Given the description of an element on the screen output the (x, y) to click on. 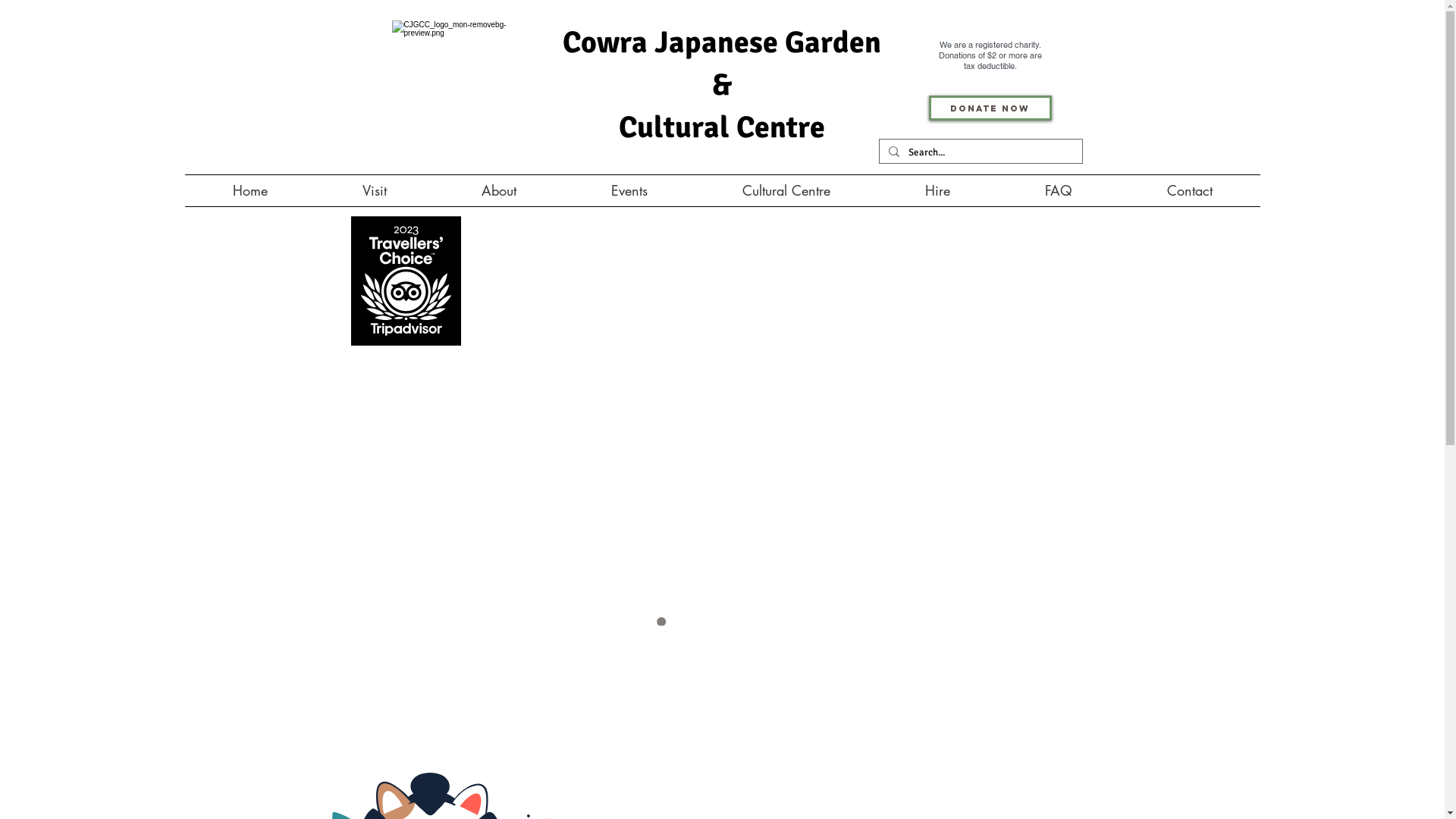
About Element type: text (498, 190)
Contact Element type: text (1189, 190)
FAQ Element type: text (1058, 190)
DONATE NOW Element type: text (989, 107)
Events Element type: text (629, 190)
Cultural Centre Element type: text (785, 190)
Home Element type: text (250, 190)
Visit Element type: text (374, 190)
Hire Element type: text (937, 190)
